Given the description of an element on the screen output the (x, y) to click on. 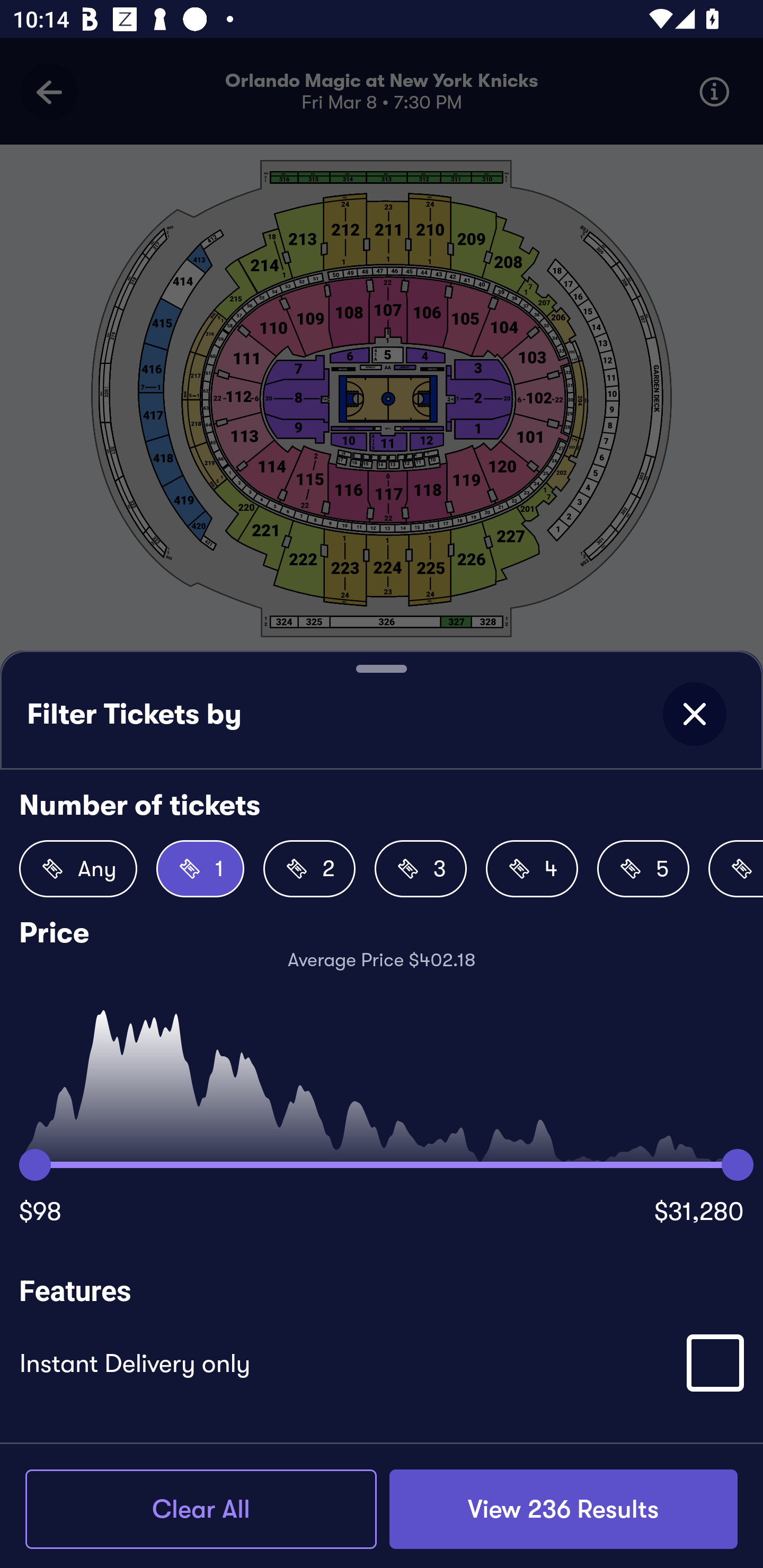
close (694, 714)
Any (78, 868)
1 (200, 868)
2 (309, 868)
3 (420, 868)
4 (532, 868)
5 (642, 868)
Clear All (200, 1509)
View 236 Results (563, 1509)
